Given the description of an element on the screen output the (x, y) to click on. 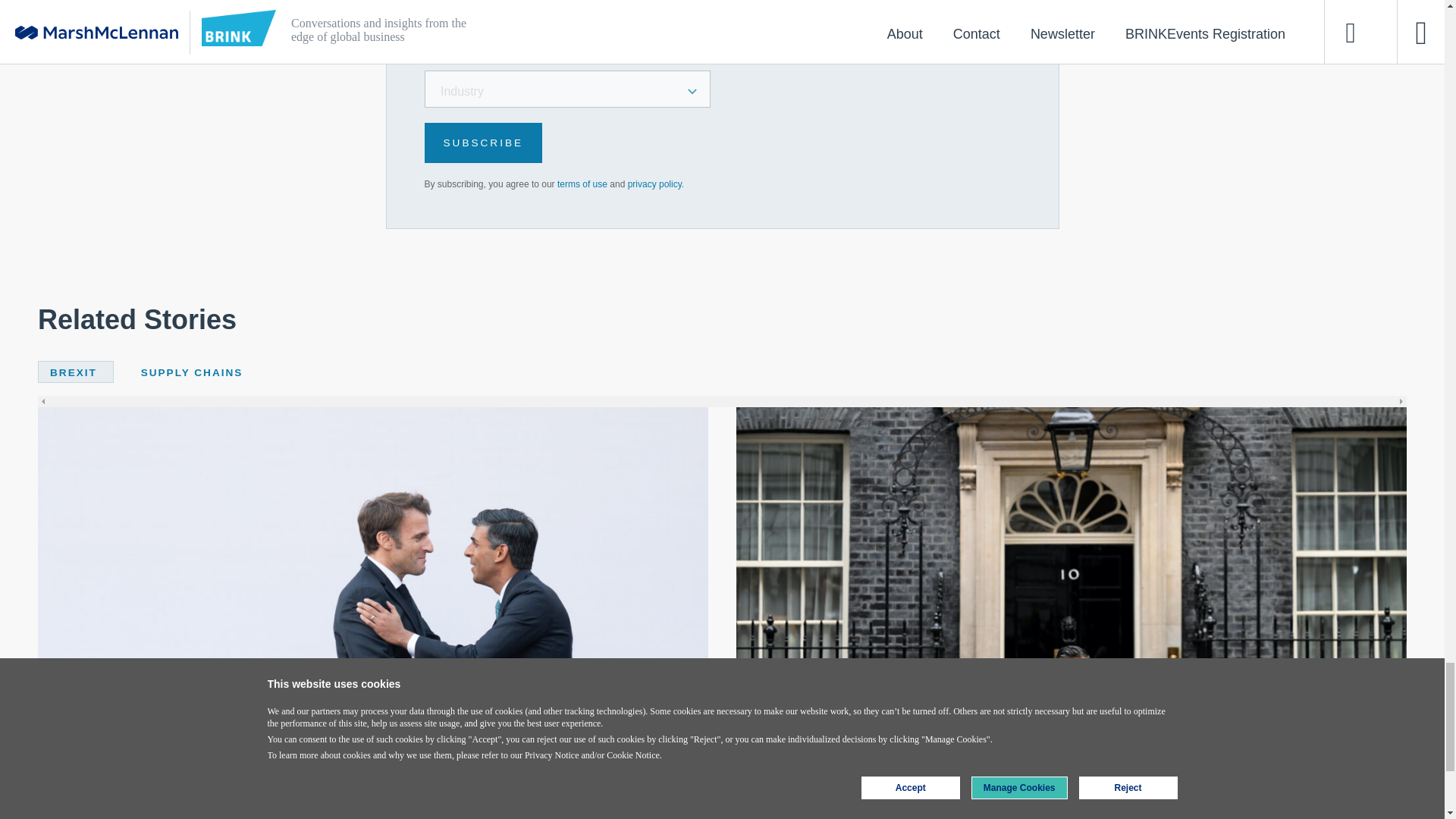
Subscribe (484, 142)
